Given the description of an element on the screen output the (x, y) to click on. 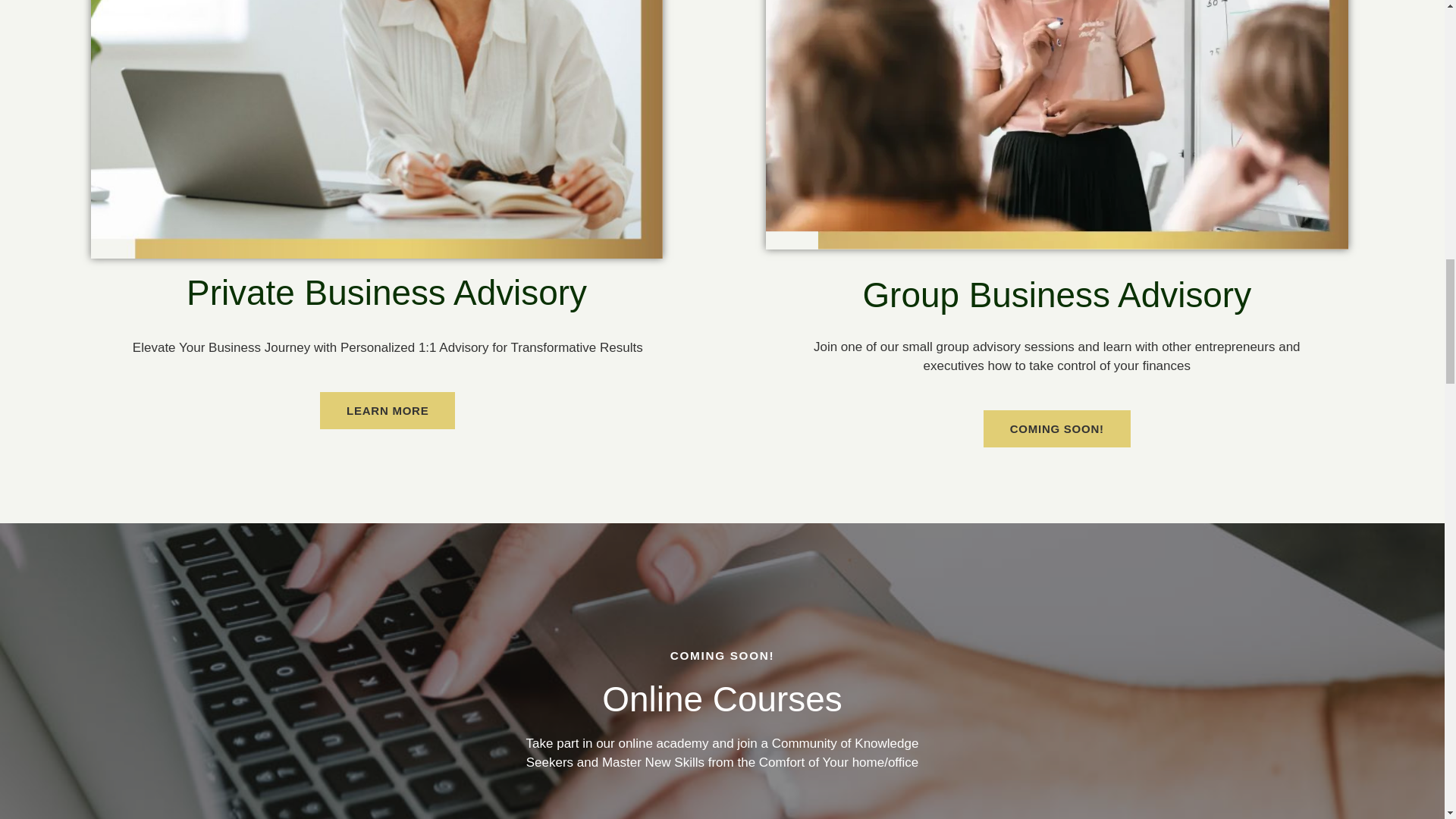
COMING SOON! (1057, 428)
LEARN MORE (387, 410)
solutions (387, 410)
